Given the description of an element on the screen output the (x, y) to click on. 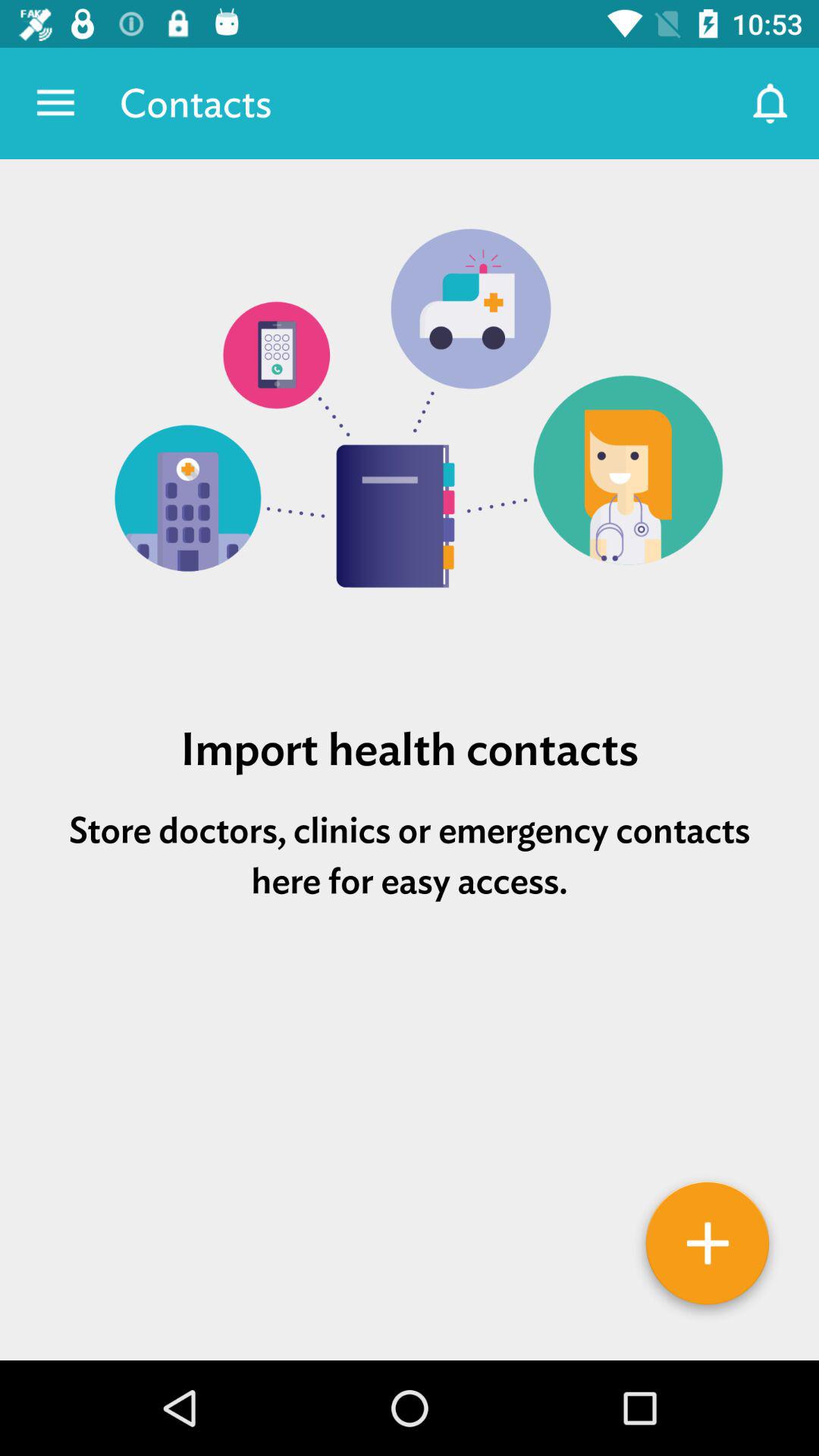
click to add option (707, 1248)
